Given the description of an element on the screen output the (x, y) to click on. 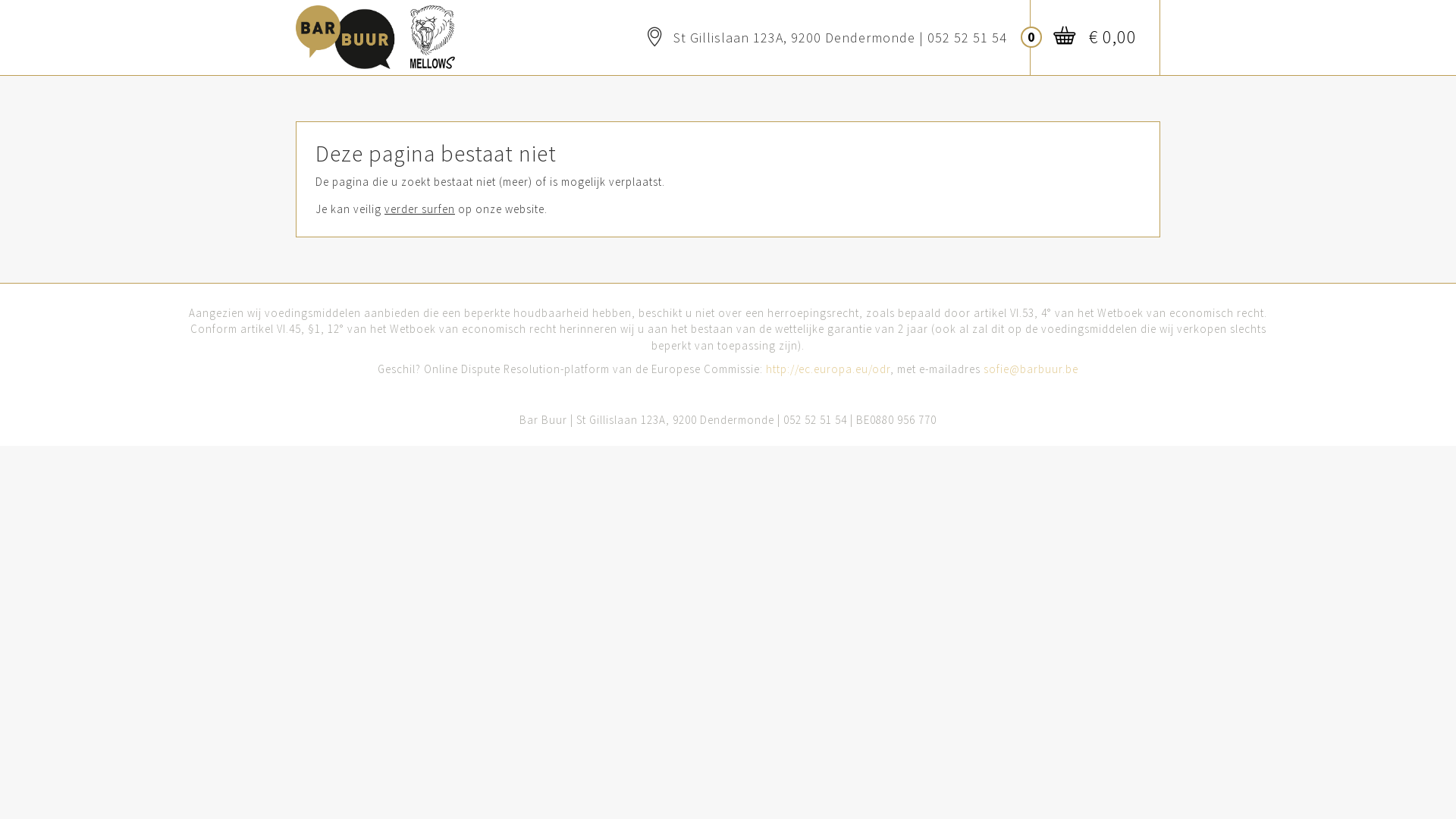
Bar Buur Takeaway Element type: hover (375, 27)
verder surfen Element type: text (419, 208)
sofie@barbuur.be Element type: text (1030, 368)
http://ec.europa.eu/odr Element type: text (827, 368)
